Given the description of an element on the screen output the (x, y) to click on. 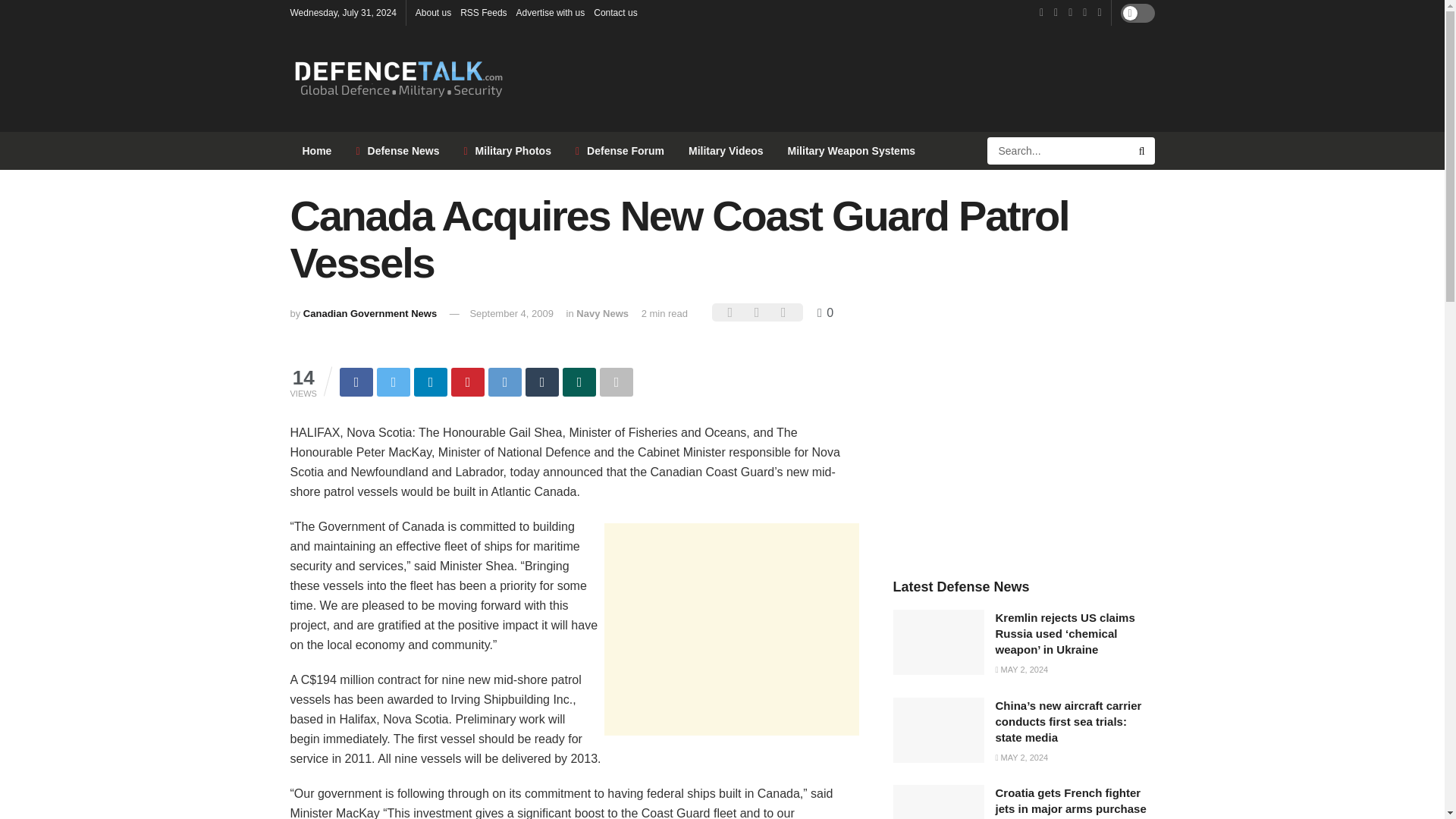
Military Weapon Systems (852, 150)
Military Videos (726, 150)
Contact us (615, 12)
Defense Forum (620, 150)
About us (432, 12)
About Defense Talk (432, 12)
Advertise (550, 12)
Contact us (615, 12)
Home (316, 150)
Defense News (397, 150)
Military Photos (506, 150)
RSS Feeds (483, 12)
Advertise with us (550, 12)
Defense News (397, 150)
